Given the description of an element on the screen output the (x, y) to click on. 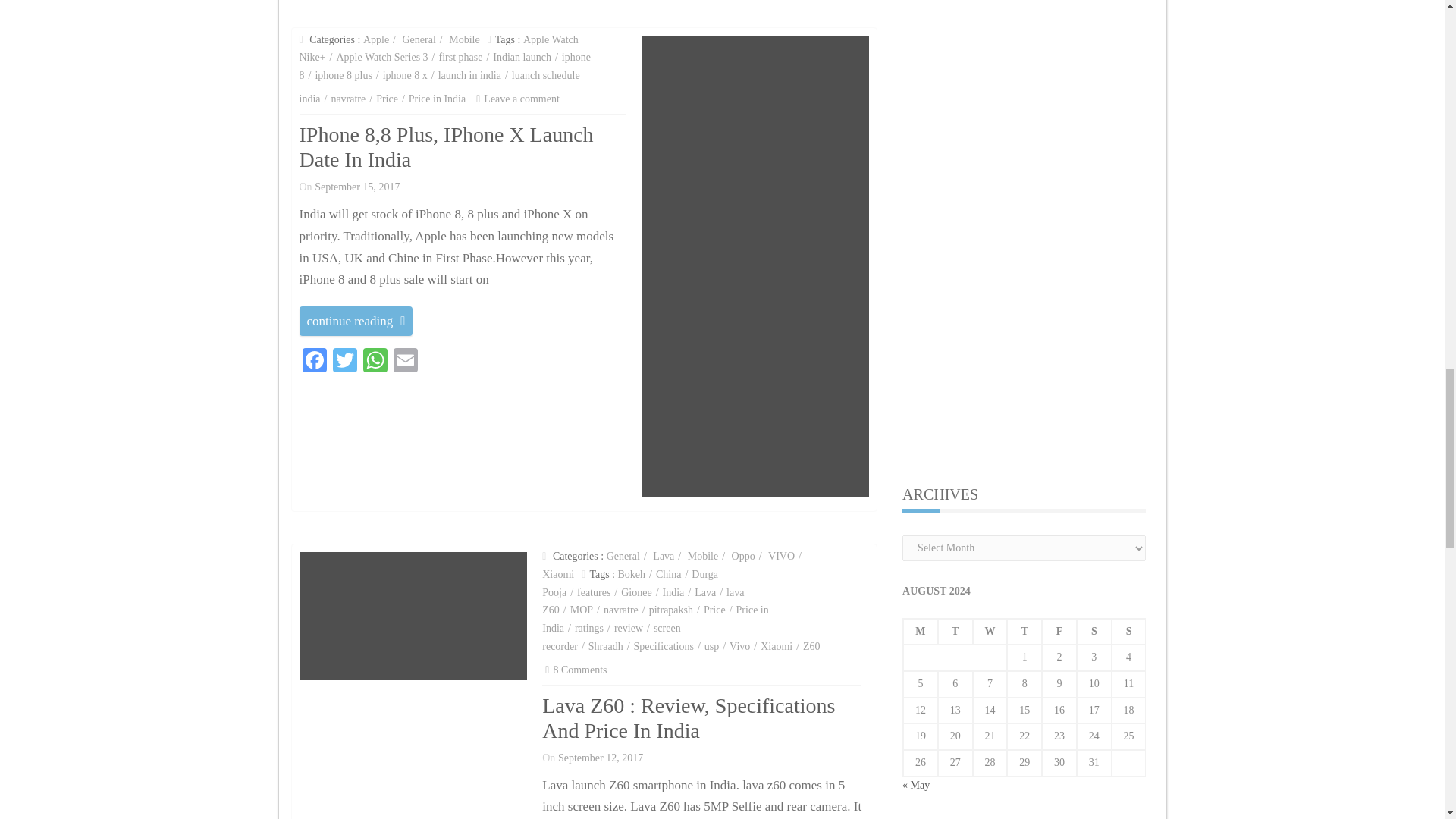
WhatsApp (374, 361)
Facebook (313, 361)
Twitter (344, 361)
